Given the description of an element on the screen output the (x, y) to click on. 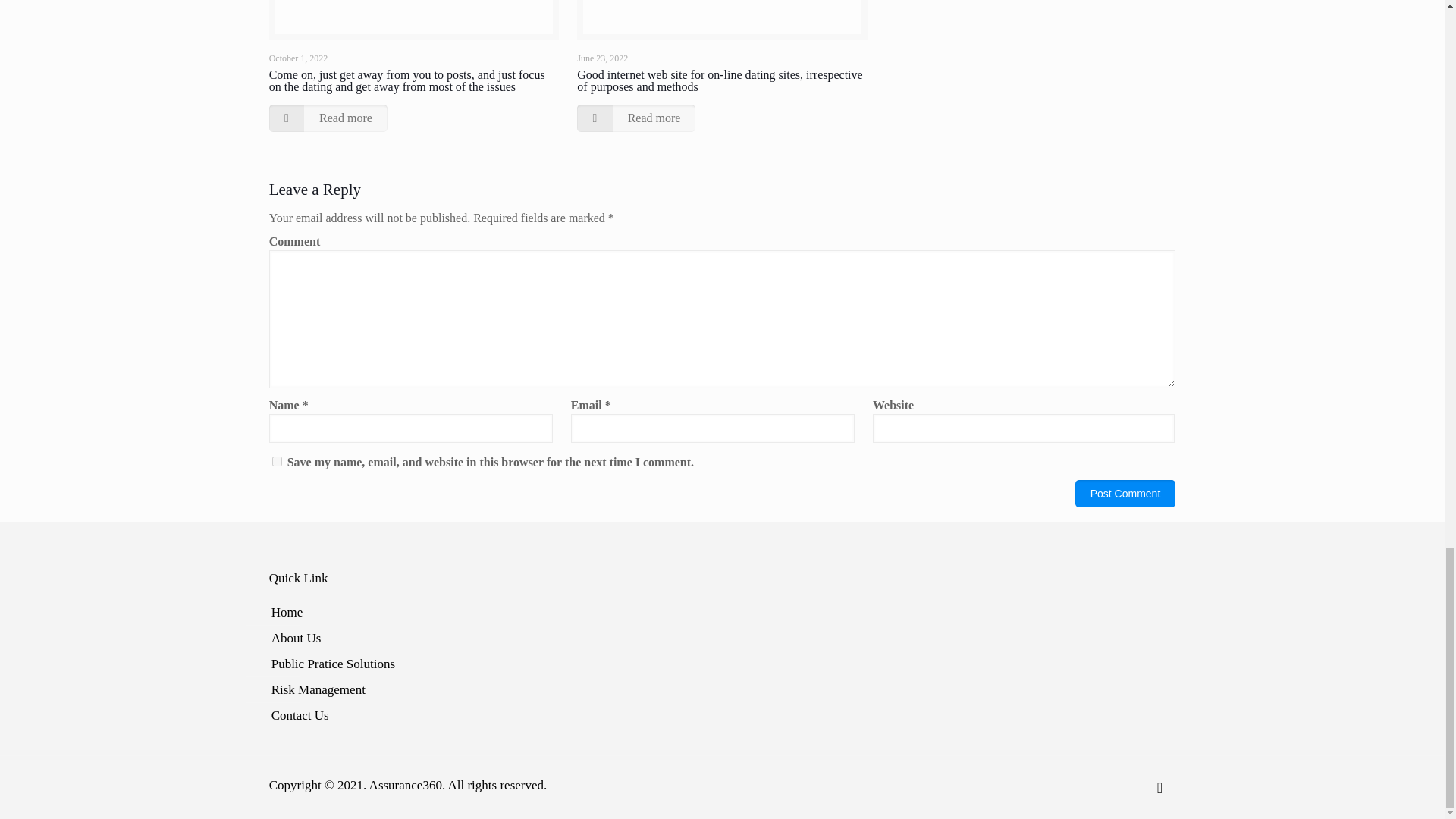
Read more (635, 117)
Public Pratice Solutions (719, 664)
About Us (719, 638)
yes (277, 461)
Post Comment (1125, 492)
Read more (328, 117)
Post Comment (1125, 492)
Home (719, 612)
